Given the description of an element on the screen output the (x, y) to click on. 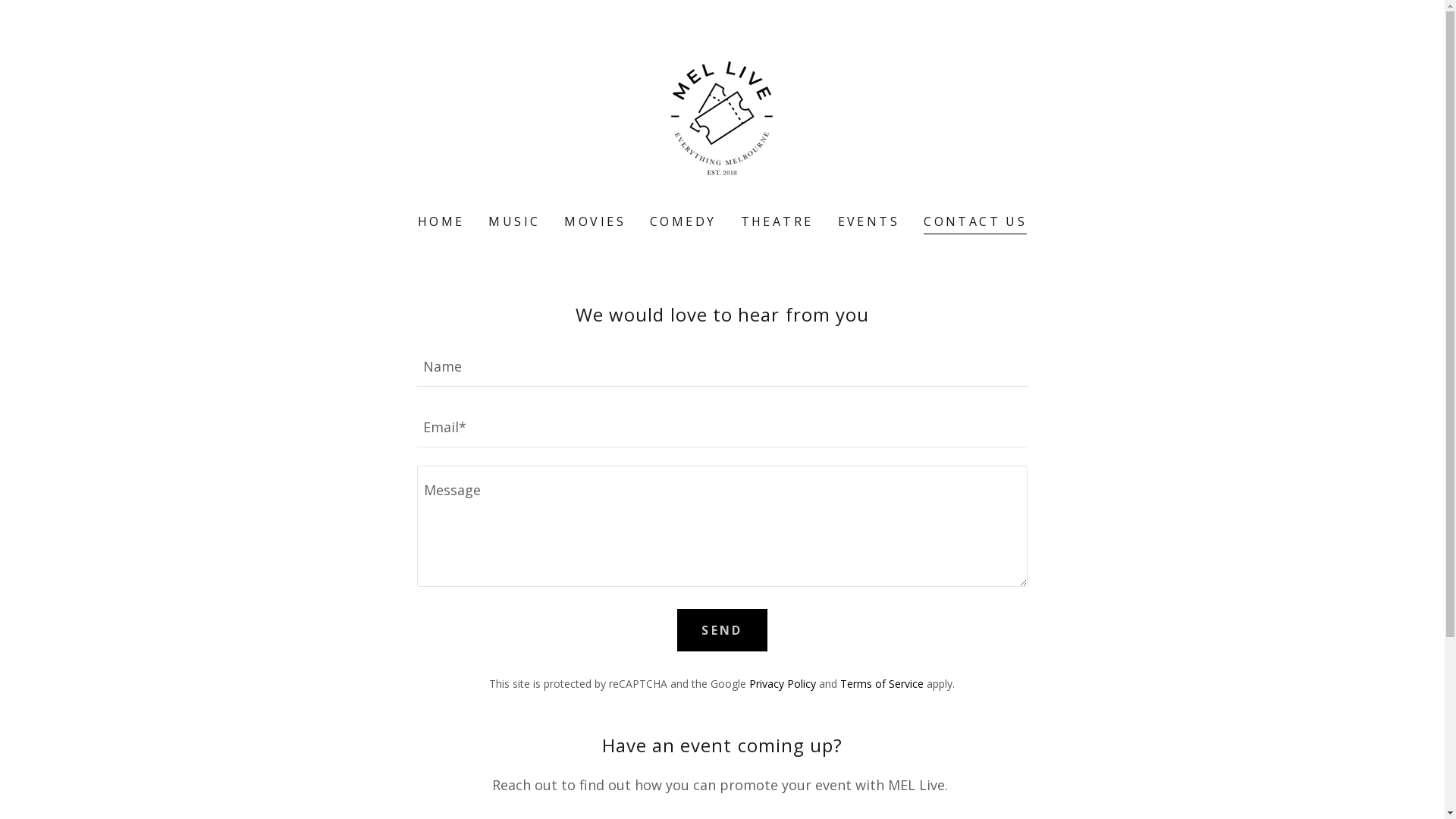
SEND Element type: text (722, 629)
CONTACT US Element type: text (974, 223)
MEL Live Element type: hover (721, 116)
COMEDY Element type: text (683, 221)
MUSIC Element type: text (513, 221)
Terms of Service Element type: text (881, 683)
HOME Element type: text (441, 221)
EVENTS Element type: text (868, 221)
THEATRE Element type: text (777, 221)
MOVIES Element type: text (594, 221)
Privacy Policy Element type: text (782, 683)
